Given the description of an element on the screen output the (x, y) to click on. 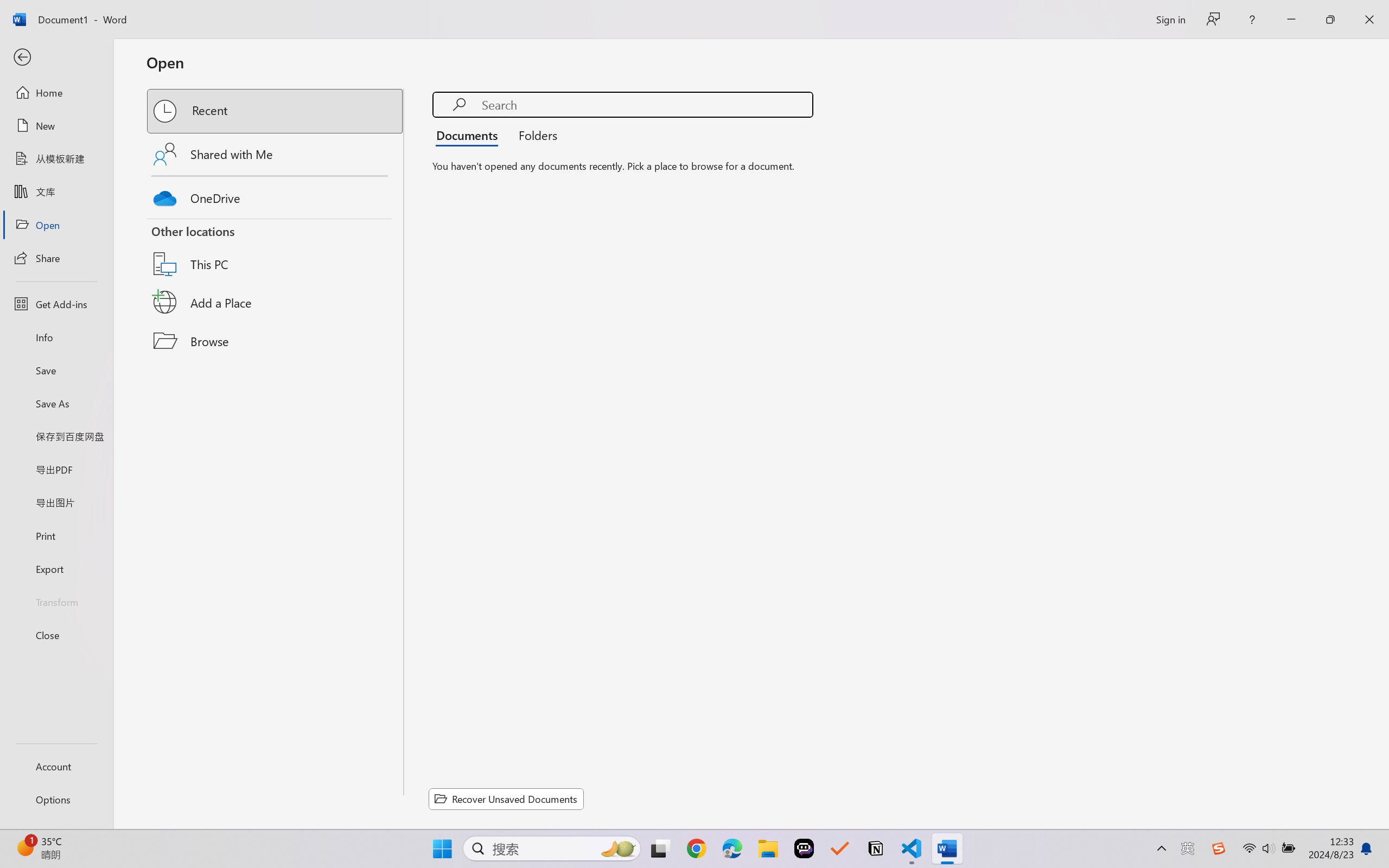
Add a Place (275, 302)
Options (56, 798)
Get Add-ins (56, 303)
Recover Unsaved Documents (506, 798)
Back (56, 57)
